Given the description of an element on the screen output the (x, y) to click on. 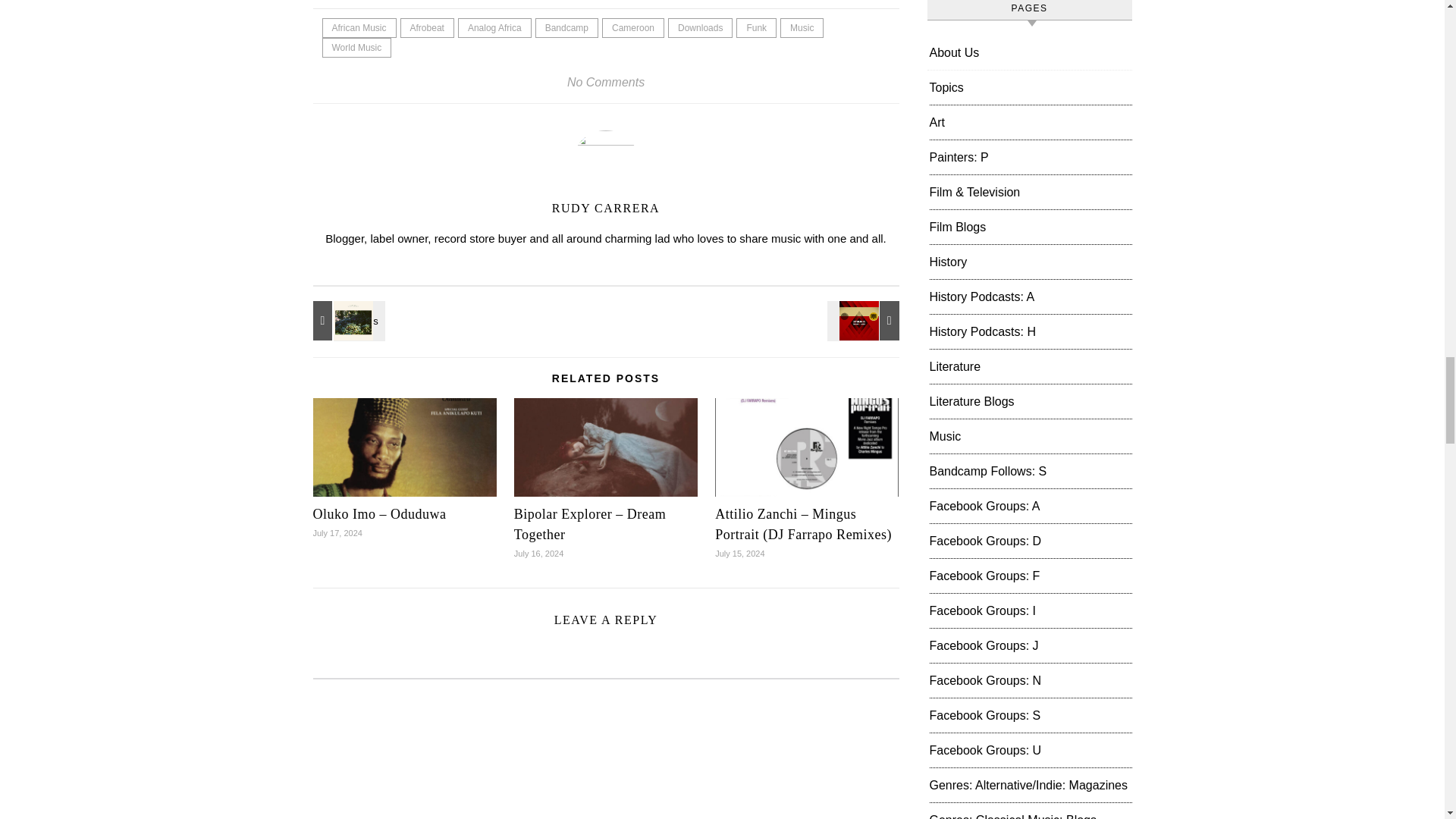
Analog Africa (494, 27)
African Music (358, 27)
Funk (756, 27)
Posts by Rudy Carrera (605, 207)
Bandcamp (566, 27)
Afrobeat (427, 27)
Downloads (700, 27)
Cameroon (632, 27)
World Music (356, 47)
RUDY CARRERA (605, 207)
No Comments (606, 82)
Music (802, 27)
